Given the description of an element on the screen output the (x, y) to click on. 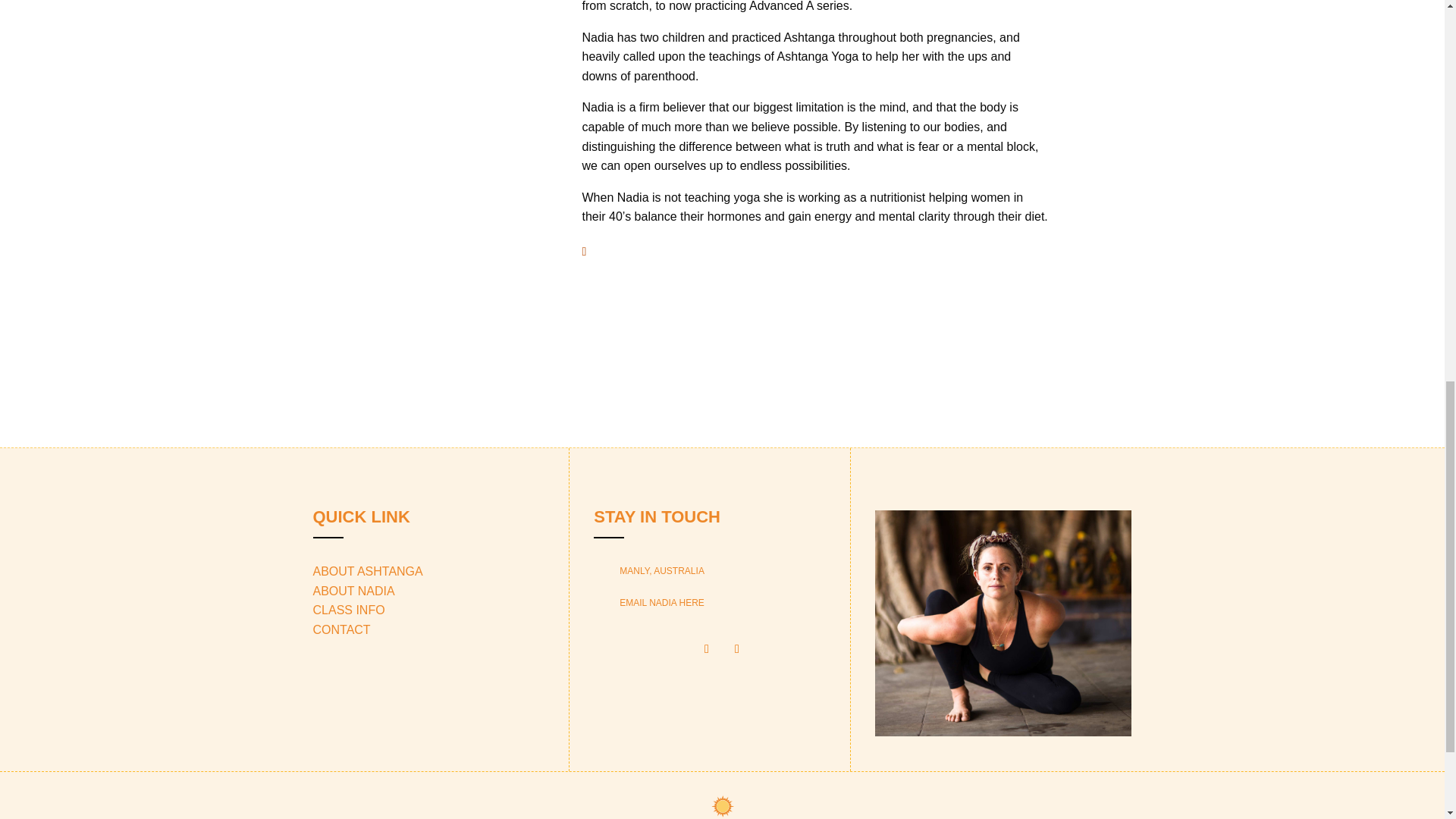
CLASS INFO (348, 609)
CONTACT (341, 629)
ABOUT ASHTANGA (367, 571)
Follow on Facebook (706, 648)
Ashtanga-Yoga-Manly-avatar-75px (722, 805)
Follow on Instagram (737, 648)
ABOUT NADIA (353, 590)
Ashtanga-Yoga-Manly-Nadia-19-background-1920x1280px (1003, 623)
